Given the description of an element on the screen output the (x, y) to click on. 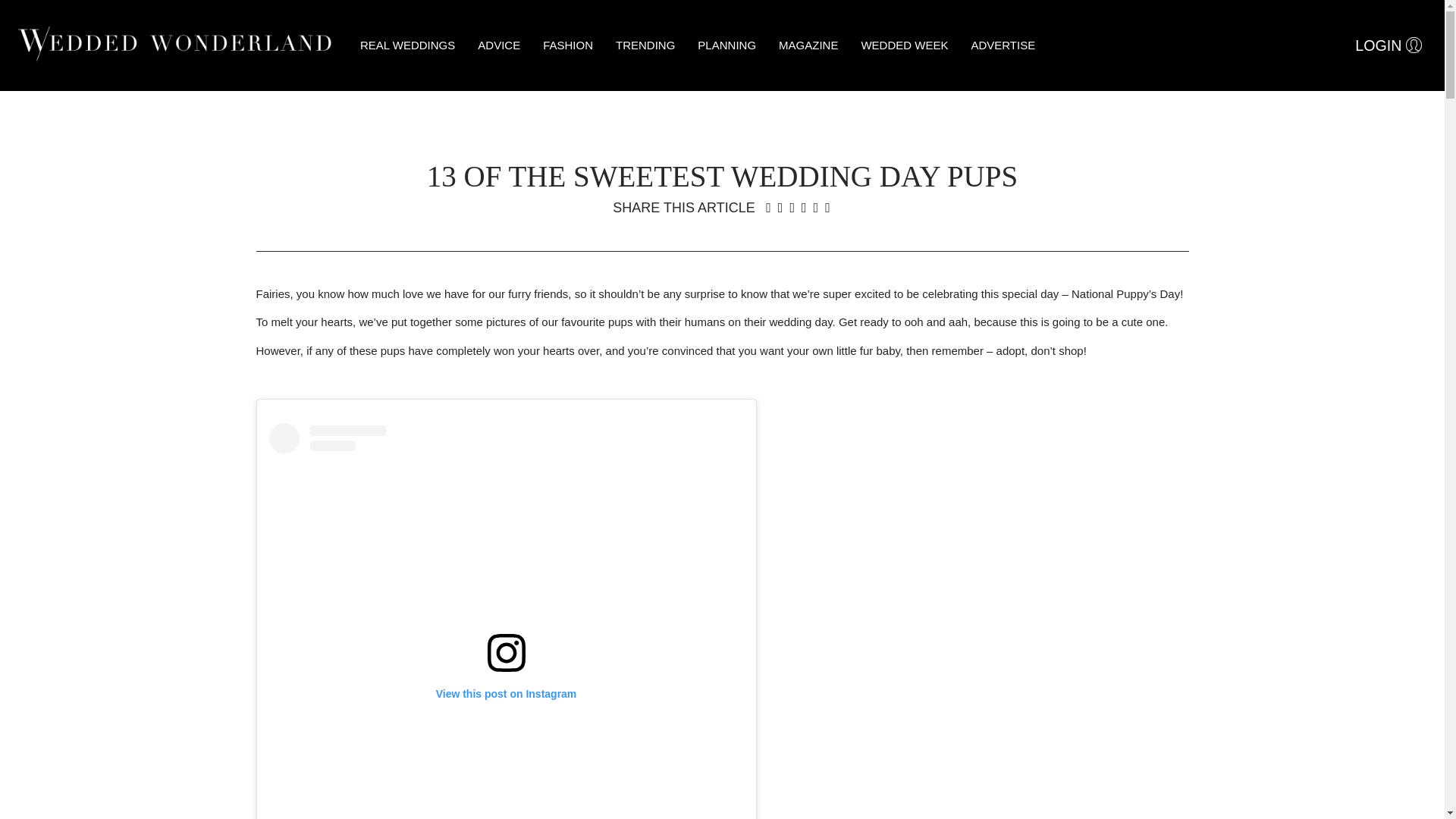
PLANNING (726, 45)
TRENDING (644, 45)
REAL WEDDINGS (407, 45)
LOGIN (1387, 45)
ADVERTISE (1002, 45)
WEDDED WEEK (903, 45)
MAGAZINE (807, 45)
